Given the description of an element on the screen output the (x, y) to click on. 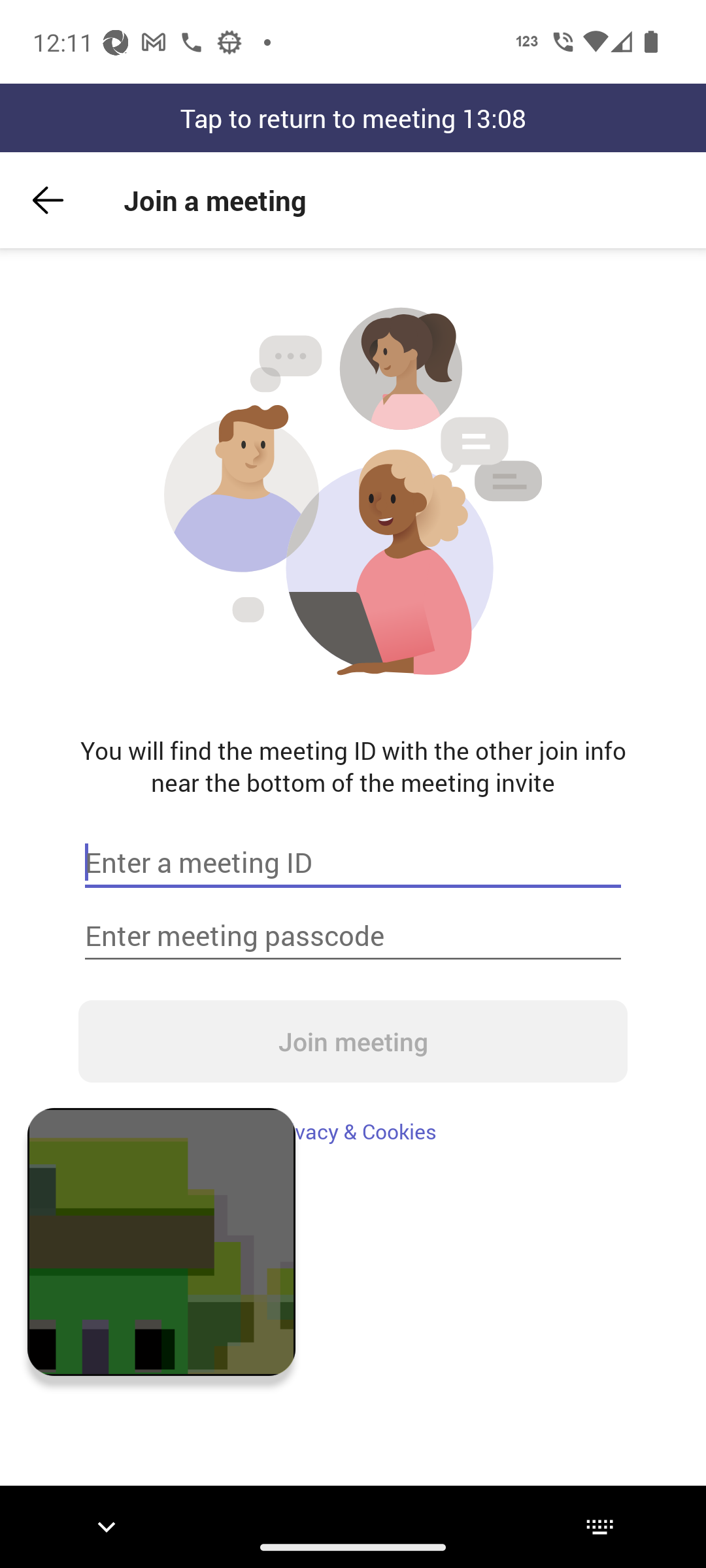
Tap to return to meeting 13:08 (353, 117)
Back (48, 199)
Enter a meeting ID (352, 863)
Enter meeting passcode (352, 936)
Join meeting (352, 1040)
